Given the description of an element on the screen output the (x, y) to click on. 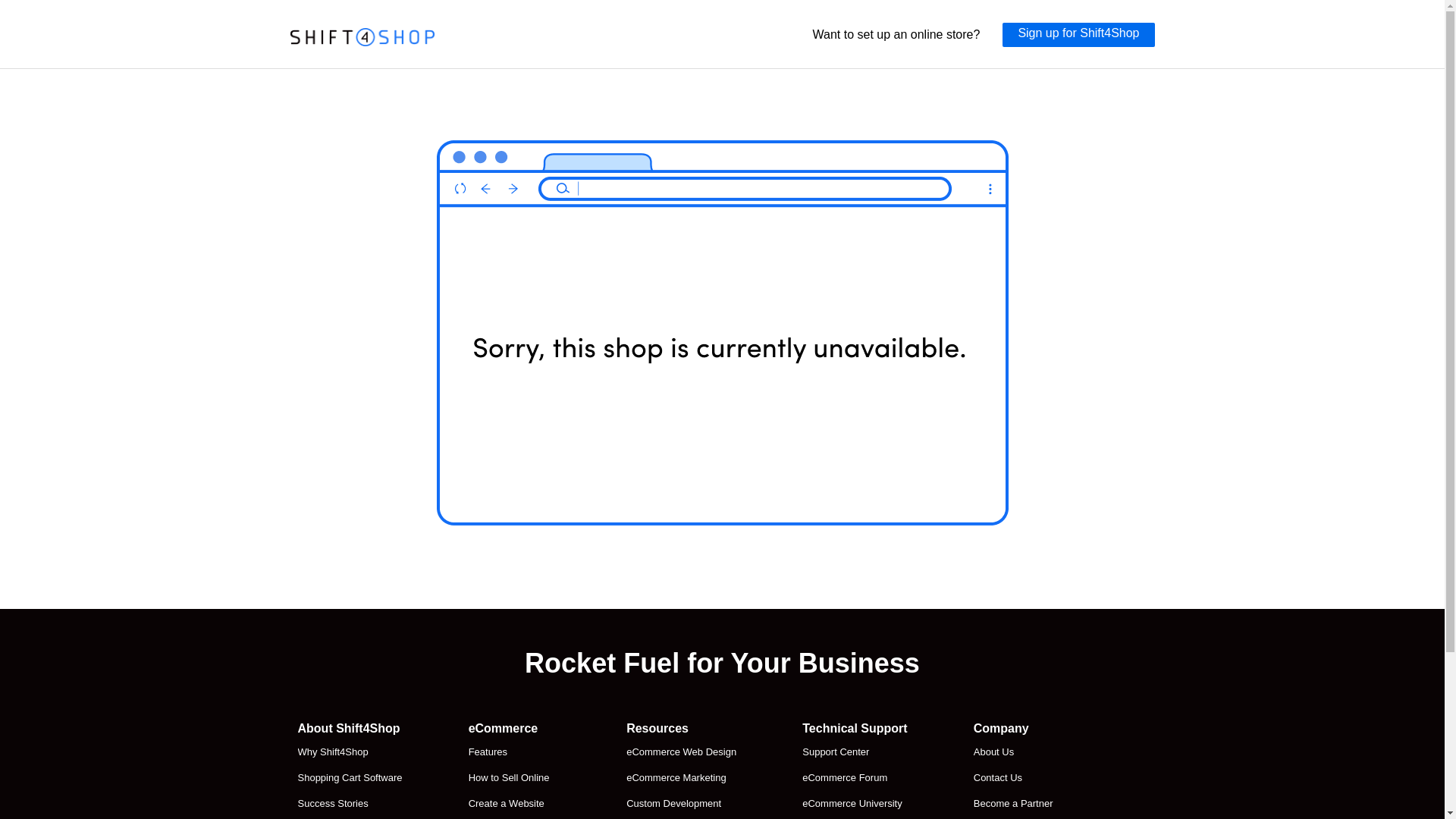
About Us (1027, 752)
Features (514, 752)
Sign up for Shift4Shop (1078, 34)
Why Shift4Shop (349, 752)
ecommerce software (361, 37)
eCommerce Web Design (681, 752)
Contact Us (1027, 777)
Custom Development (681, 803)
Shopping Cart Software (349, 777)
Support Center (854, 752)
Success Stories (349, 803)
Become a Partner (1027, 803)
How to Sell Online (514, 777)
eCommerce Marketing (681, 777)
eCommerce Forum (854, 777)
